Given the description of an element on the screen output the (x, y) to click on. 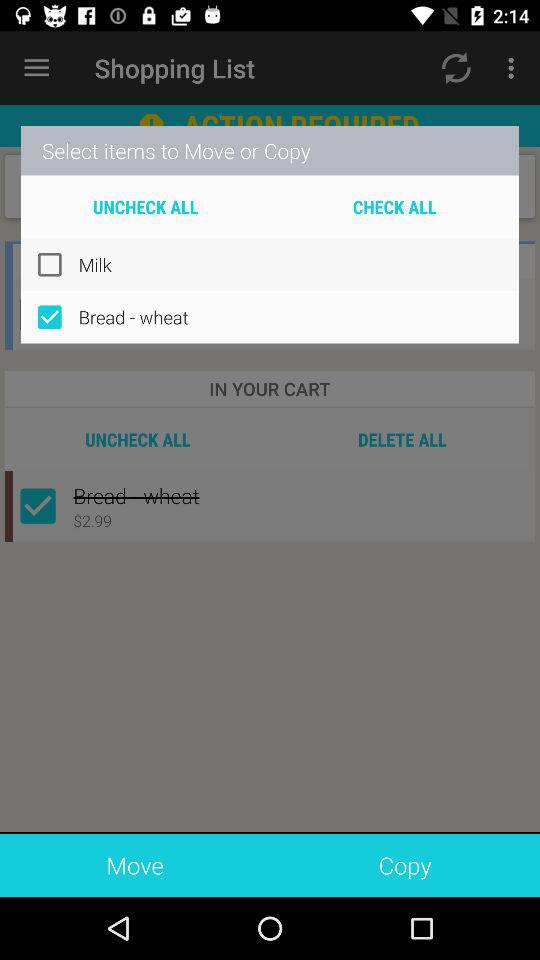
click the icon next to uncheck all item (394, 206)
